Given the description of an element on the screen output the (x, y) to click on. 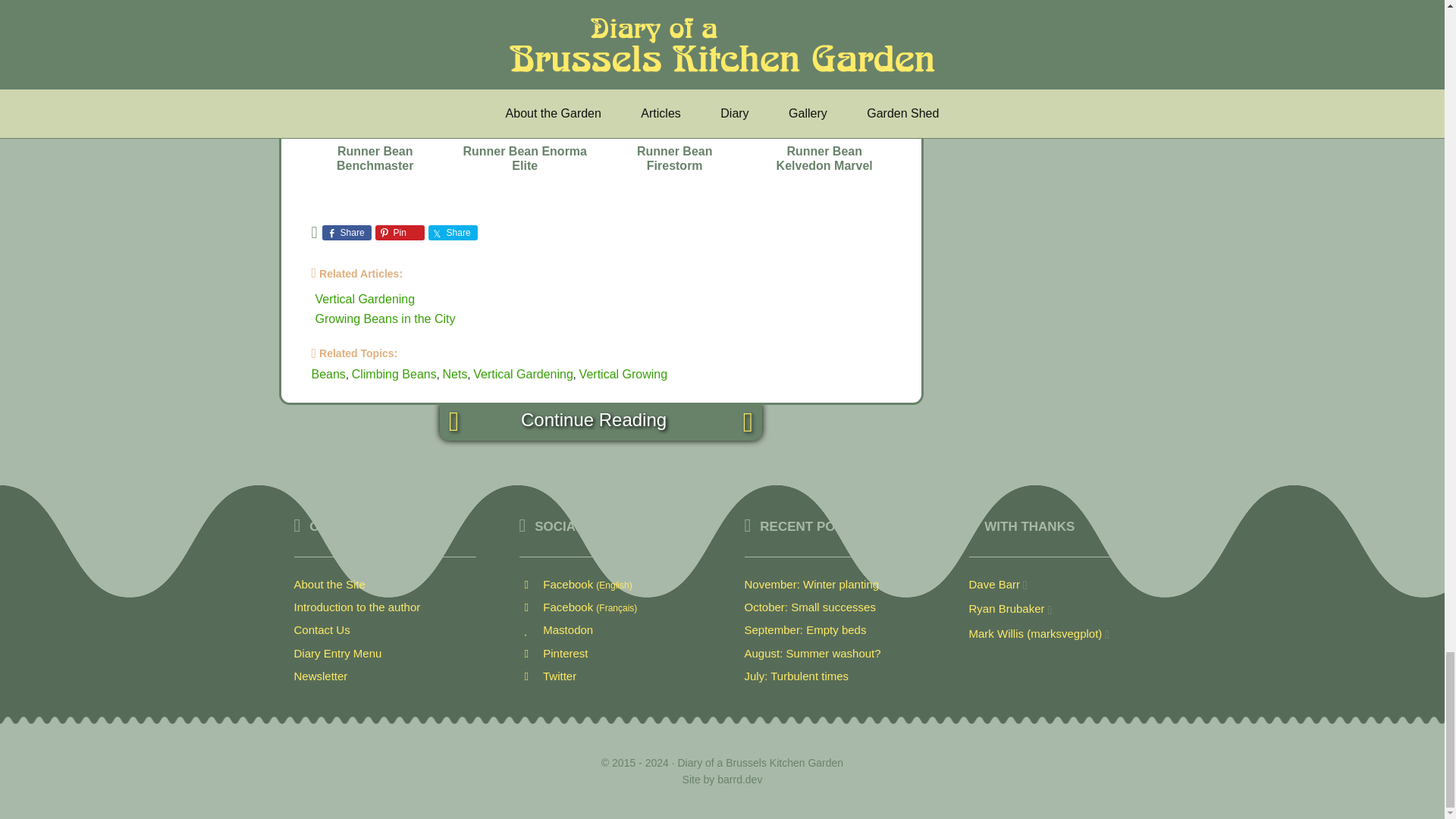
Twitter (547, 675)
About the Site (329, 584)
Facebook (577, 606)
Dave Barr (994, 584)
Share (346, 232)
Contact Us (322, 629)
Newsletter (320, 675)
Ryan Brubaker (1007, 608)
Mastodon (555, 629)
Vertical Gardening (364, 298)
Share (452, 232)
Pin (400, 232)
Facebook (574, 584)
Diary Entry Menu (337, 653)
barrd home (739, 779)
